Given the description of an element on the screen output the (x, y) to click on. 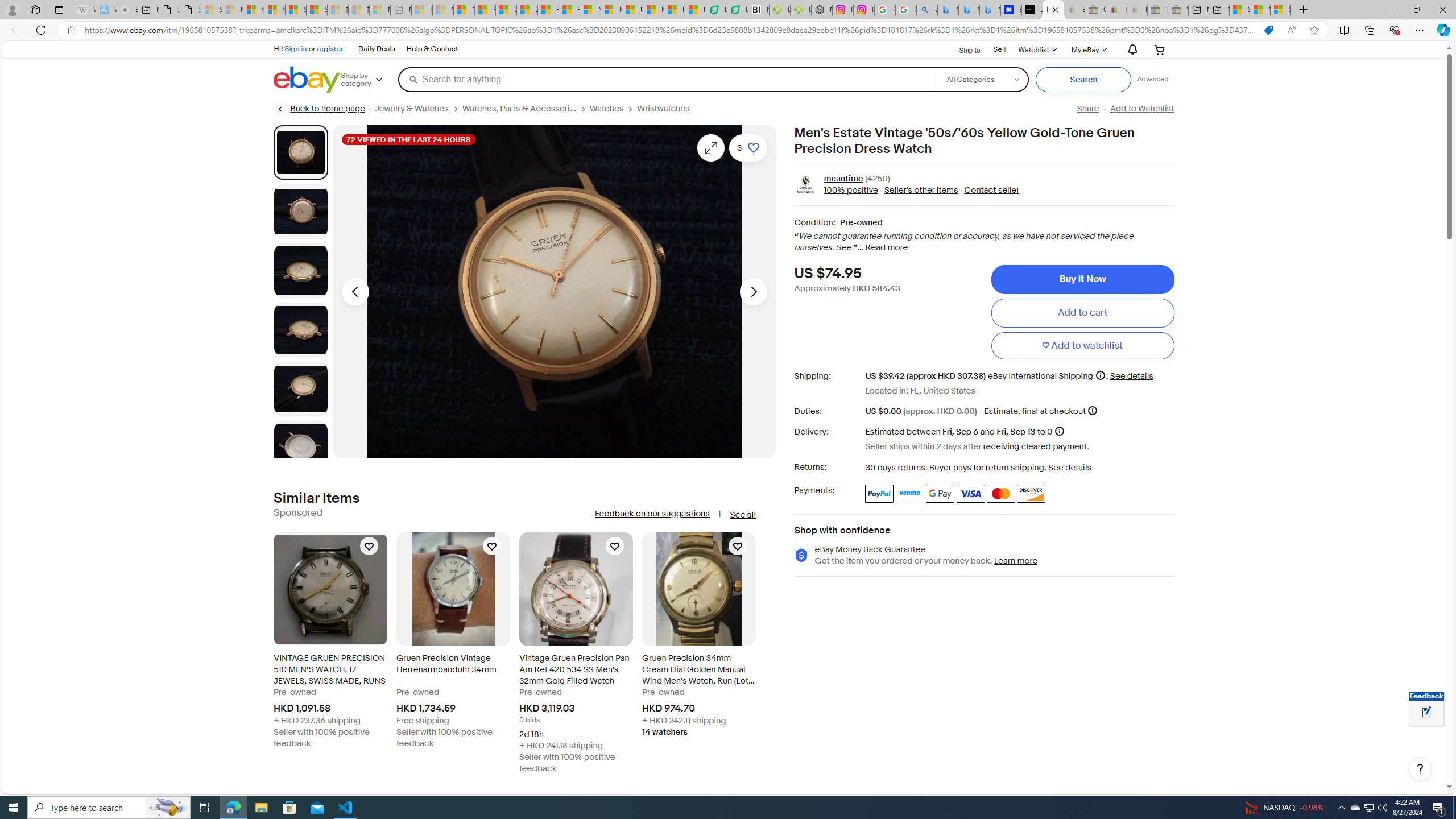
Nvidia va a poner a prueba la paciencia de los inversores (759, 9)
LendingTree - Compare Lenders (737, 9)
Opens image gallery (711, 147)
US Heat Deaths Soared To Record High Last Year (632, 9)
Help, opens dialogs (1420, 768)
Add to Watchlist (1141, 108)
Class: ux-action (804, 184)
